Given the description of an element on the screen output the (x, y) to click on. 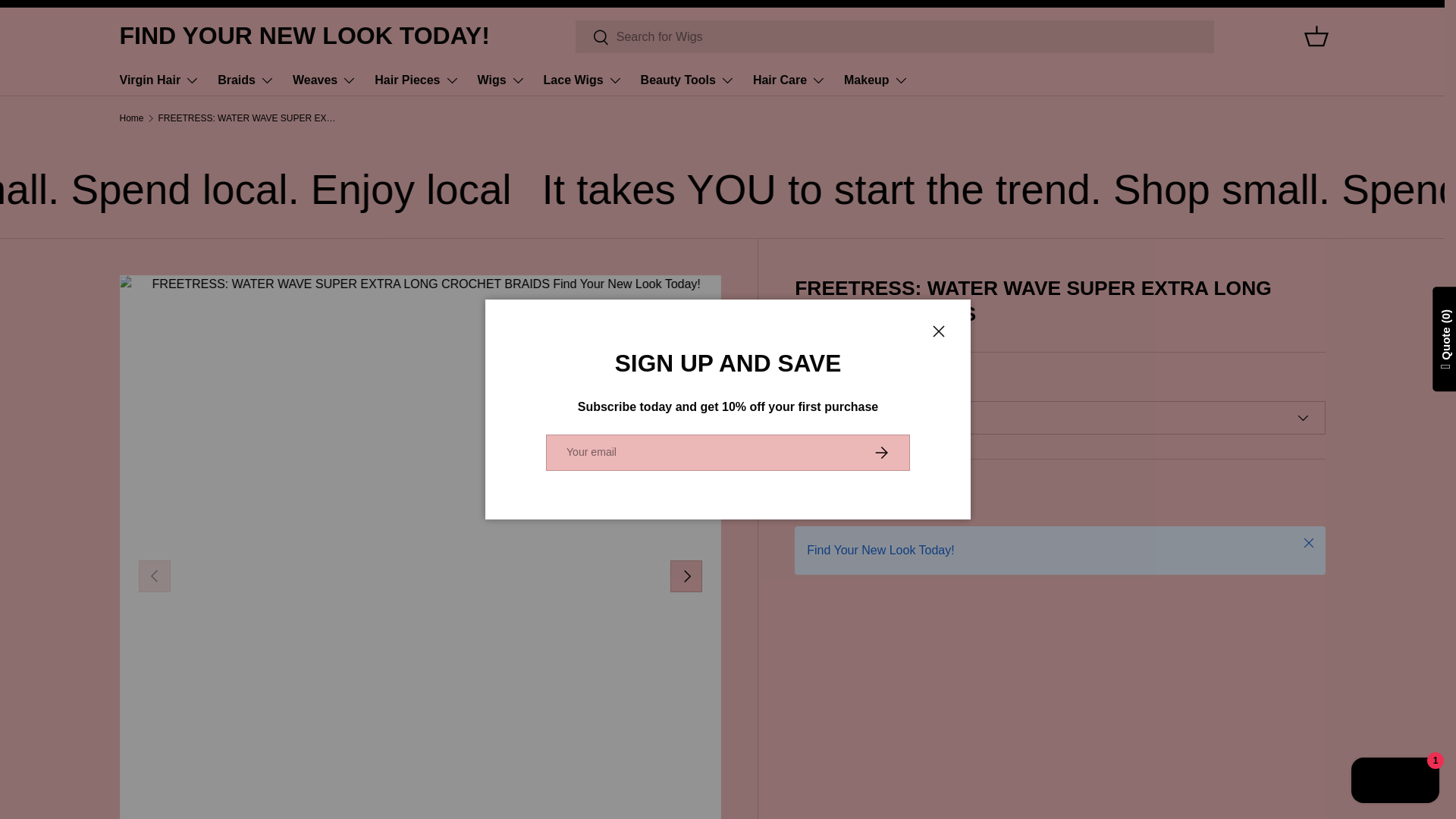
SKIP TO CONTENT (68, 21)
Virgin Hair (159, 80)
Search (592, 37)
FIND YOUR NEW LOOK TODAY! (304, 36)
Lace Wigs (583, 80)
Shopify online store chat (1395, 781)
Basket (1316, 36)
Braids (245, 80)
Weaves (324, 80)
Wigs (501, 80)
